Given the description of an element on the screen output the (x, y) to click on. 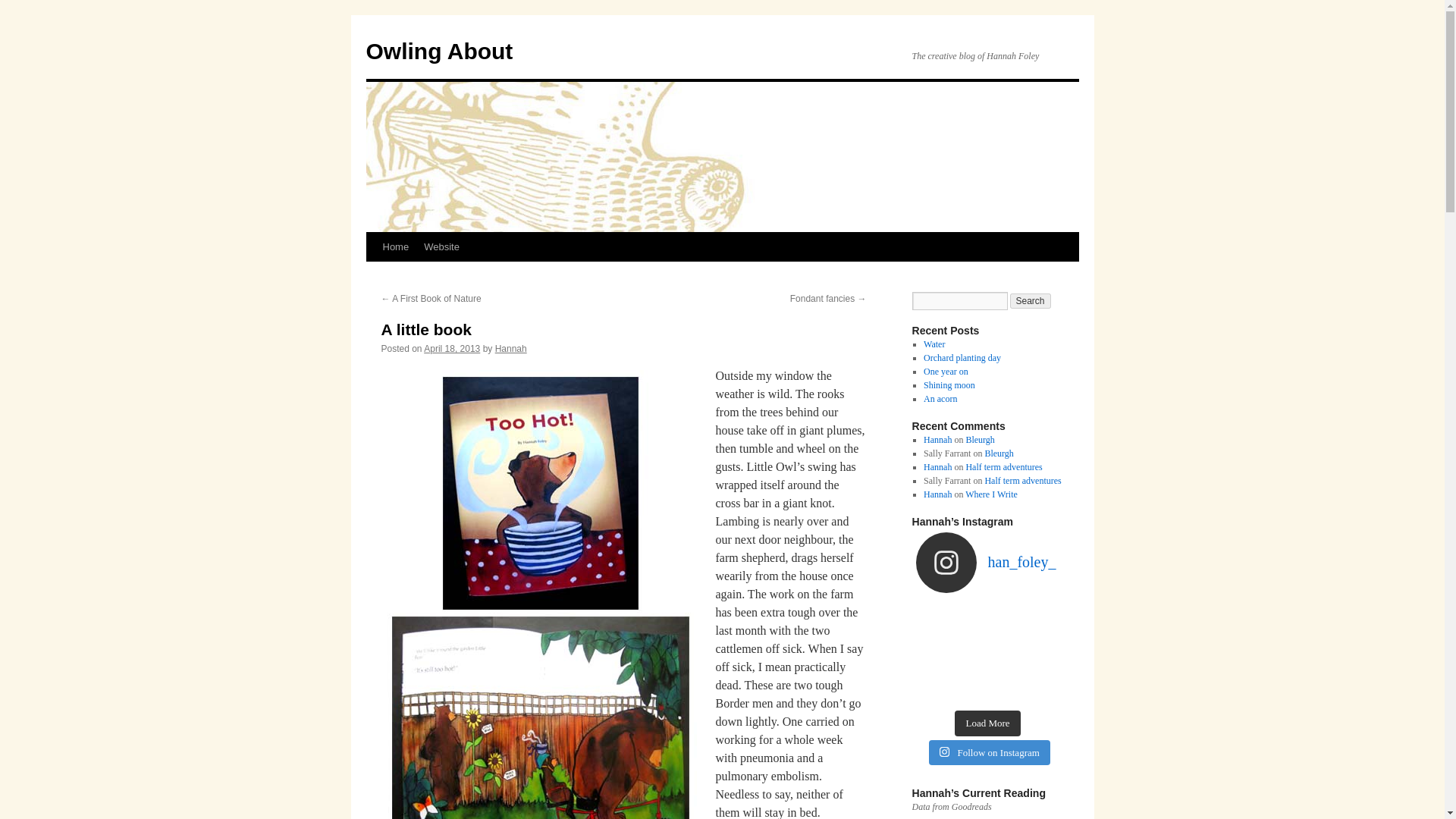
Search (1030, 300)
Owling About (438, 50)
Shining moon (949, 385)
One year on (945, 371)
9:08 am (451, 348)
Hannah (511, 348)
Hannah (937, 439)
Search (1030, 300)
Orchard planting day (962, 357)
Home (395, 246)
